Given the description of an element on the screen output the (x, y) to click on. 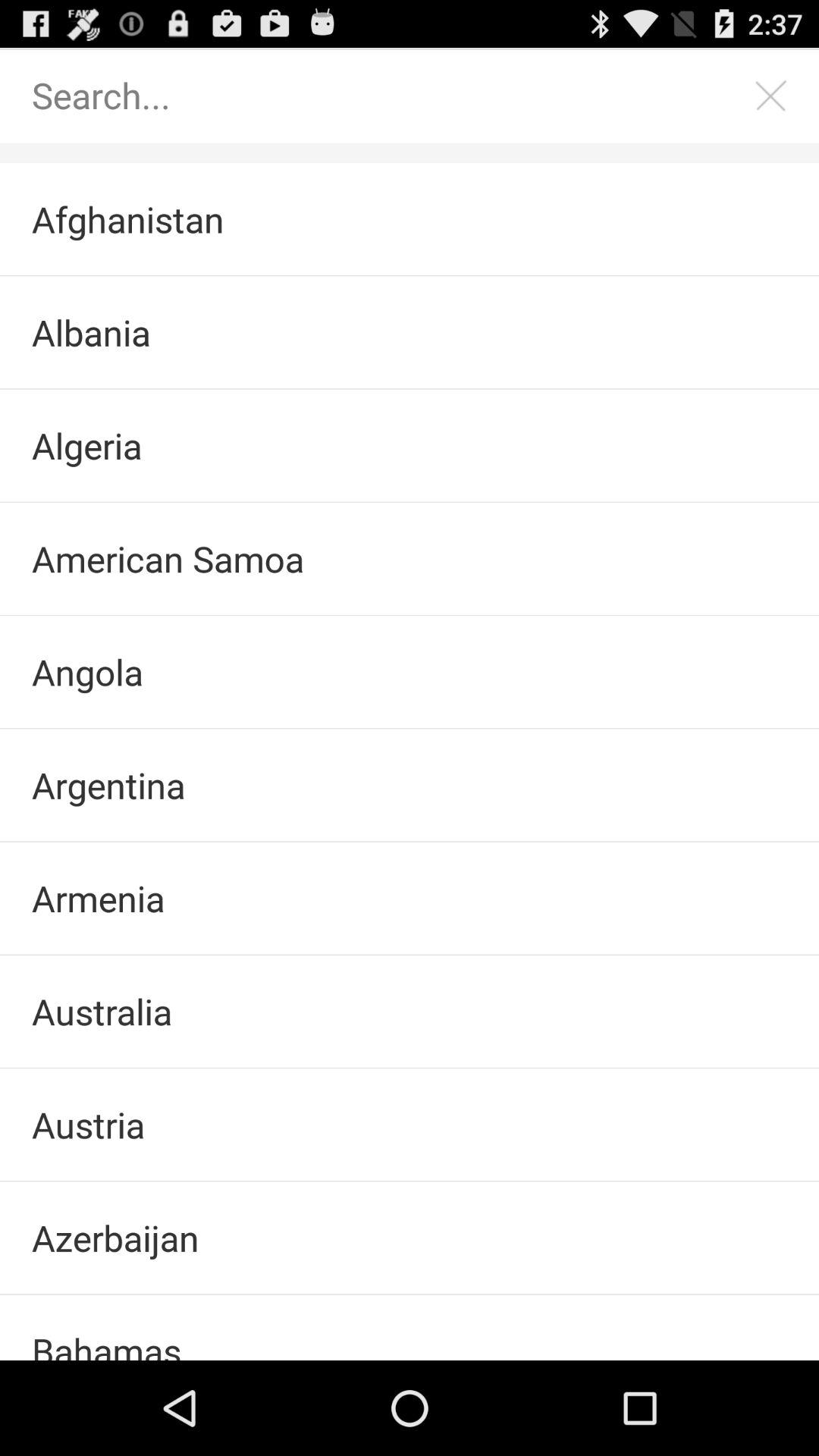
select the icon above the albania checkbox (409, 219)
